Given the description of an element on the screen output the (x, y) to click on. 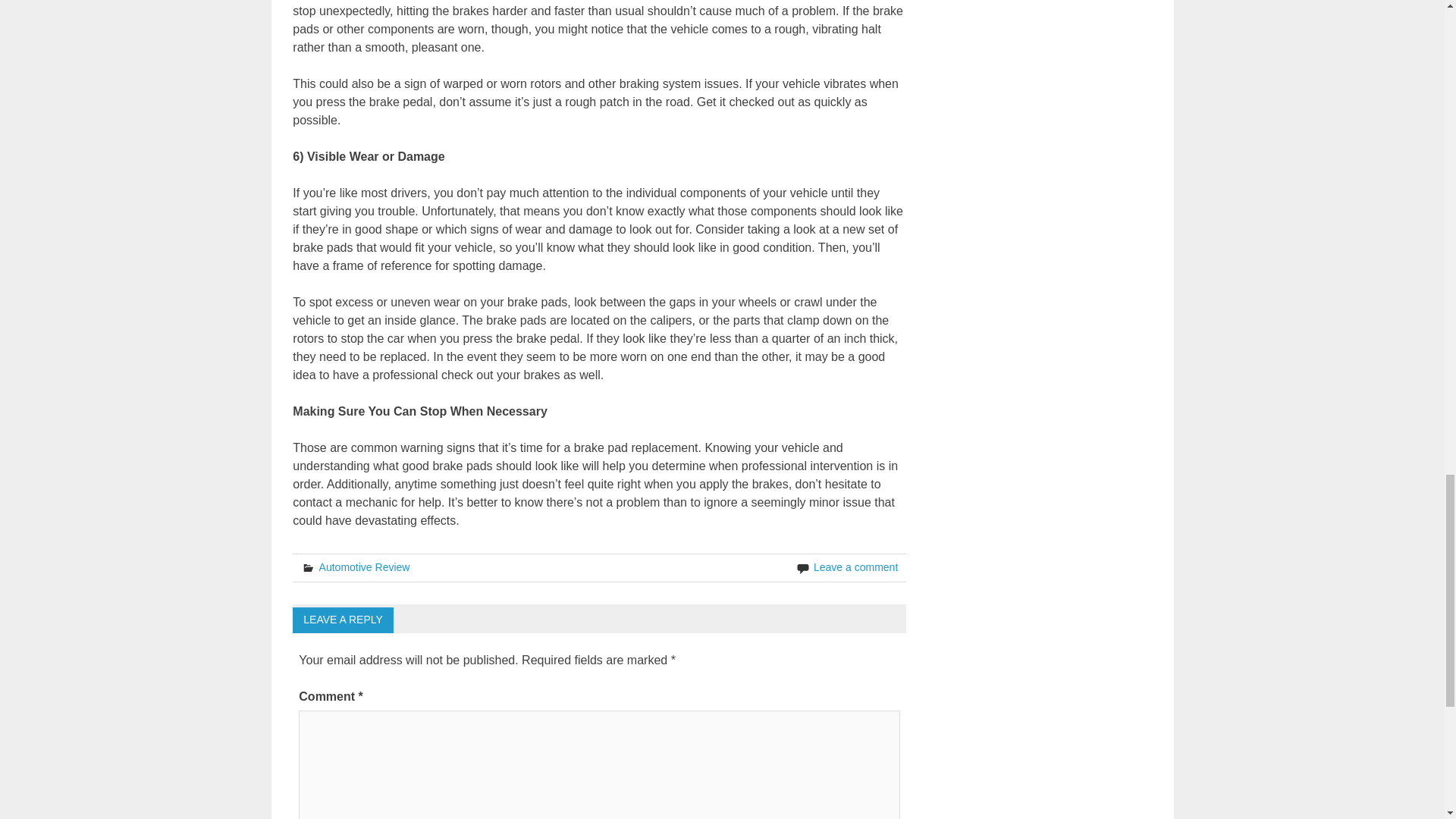
Automotive Review (364, 567)
Leave a comment (855, 567)
